Given the description of an element on the screen output the (x, y) to click on. 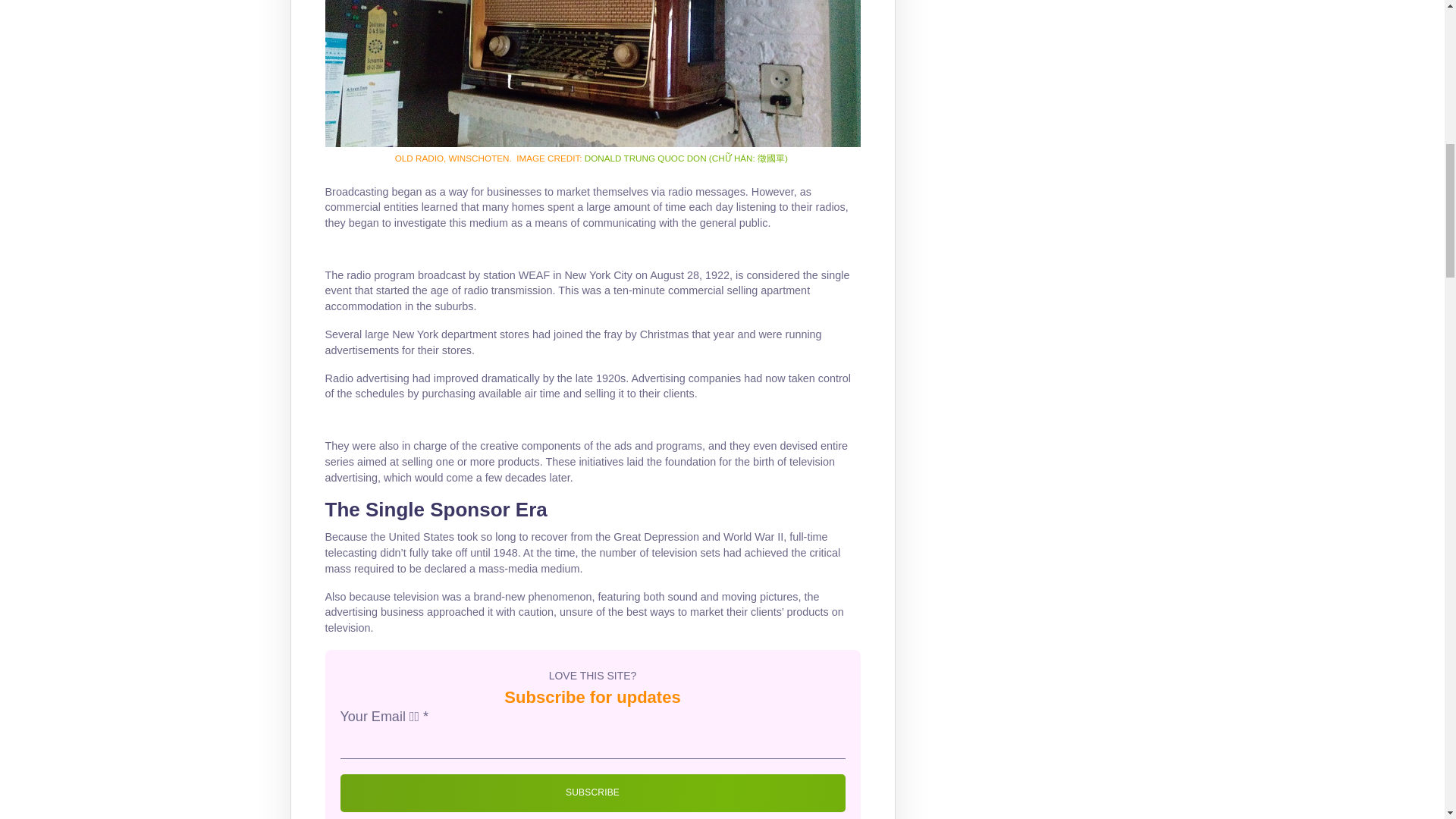
Subscribe (591, 792)
Subscribe (591, 792)
User:Donald Trung (762, 266)
px Old radio Winschoten (592, 73)
